Given the description of an element on the screen output the (x, y) to click on. 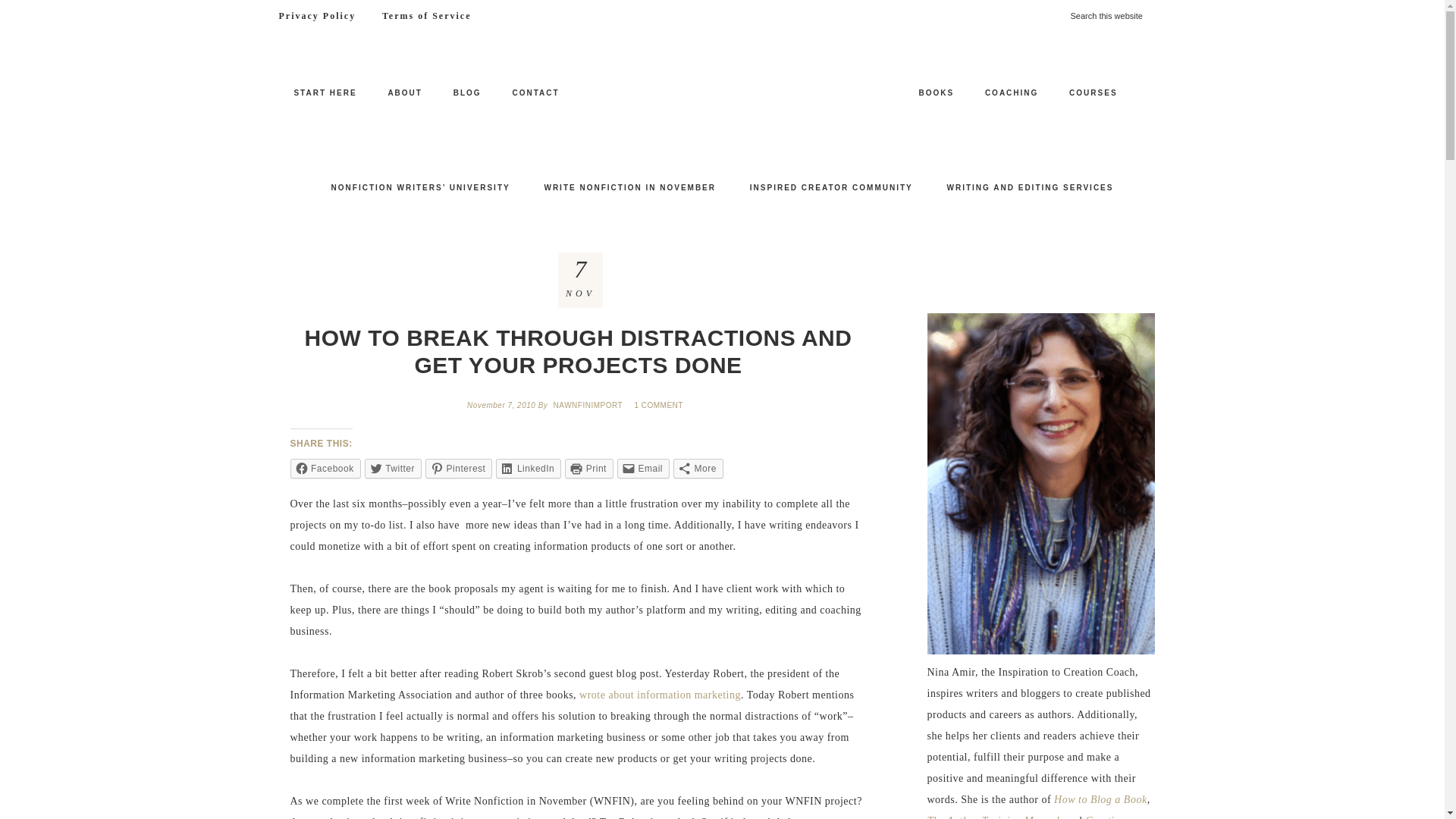
WRITE NONFICTION NOW! (722, 102)
wrote about information marketing (660, 695)
Pinterest (458, 468)
Privacy Policy (316, 15)
Email (643, 468)
BOOKS (936, 93)
CONTACT (534, 93)
1 COMMENT (659, 405)
LinkedIn (528, 468)
INSPIRED CREATOR COMMUNITY (831, 187)
